Given the description of an element on the screen output the (x, y) to click on. 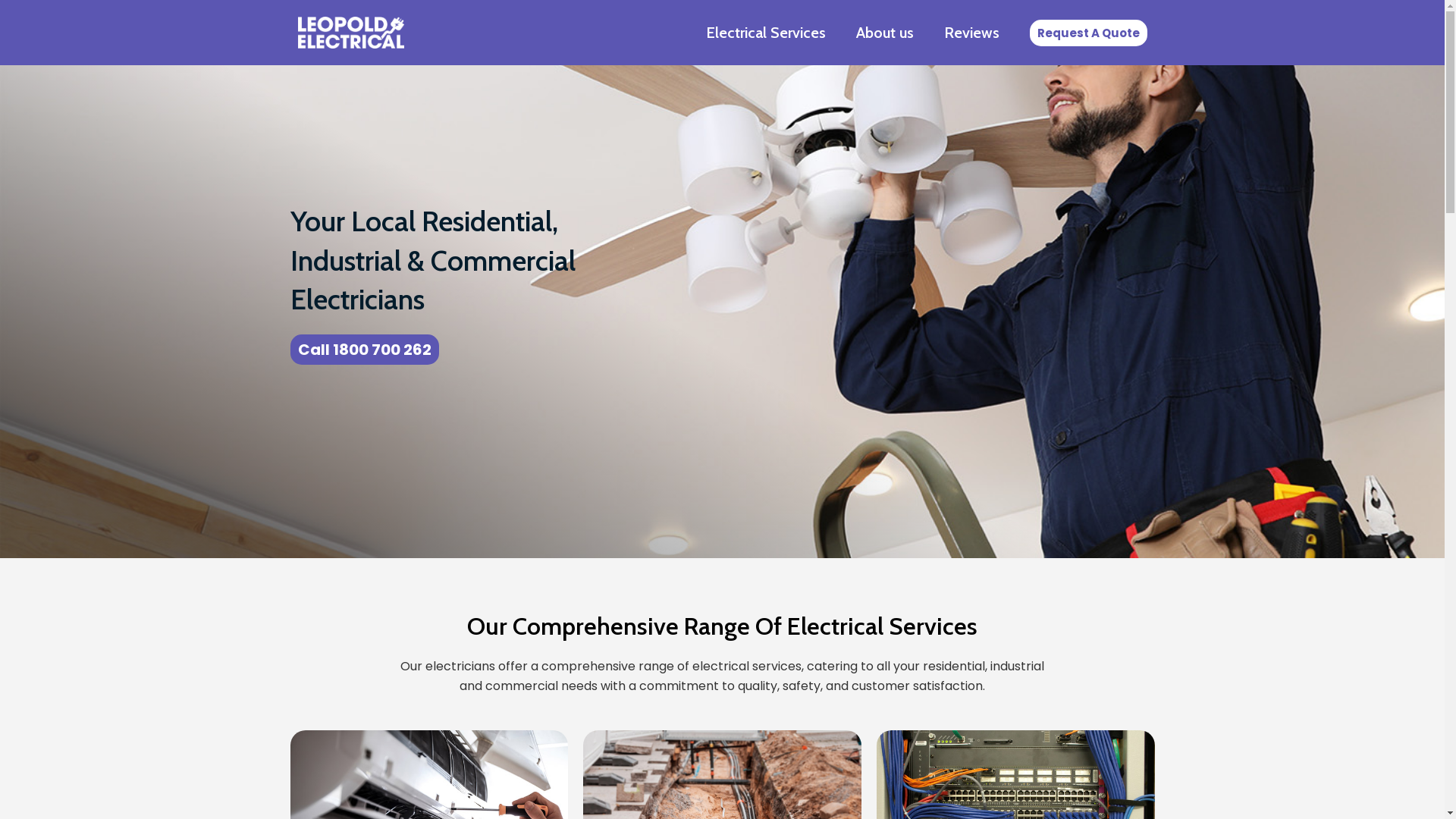
About us Element type: text (884, 32)
Request A Quote Element type: text (1088, 32)
Reviews Element type: text (970, 32)
Electrical Services Element type: text (765, 32)
Call 1800 700 262 Element type: text (363, 349)
